Given the description of an element on the screen output the (x, y) to click on. 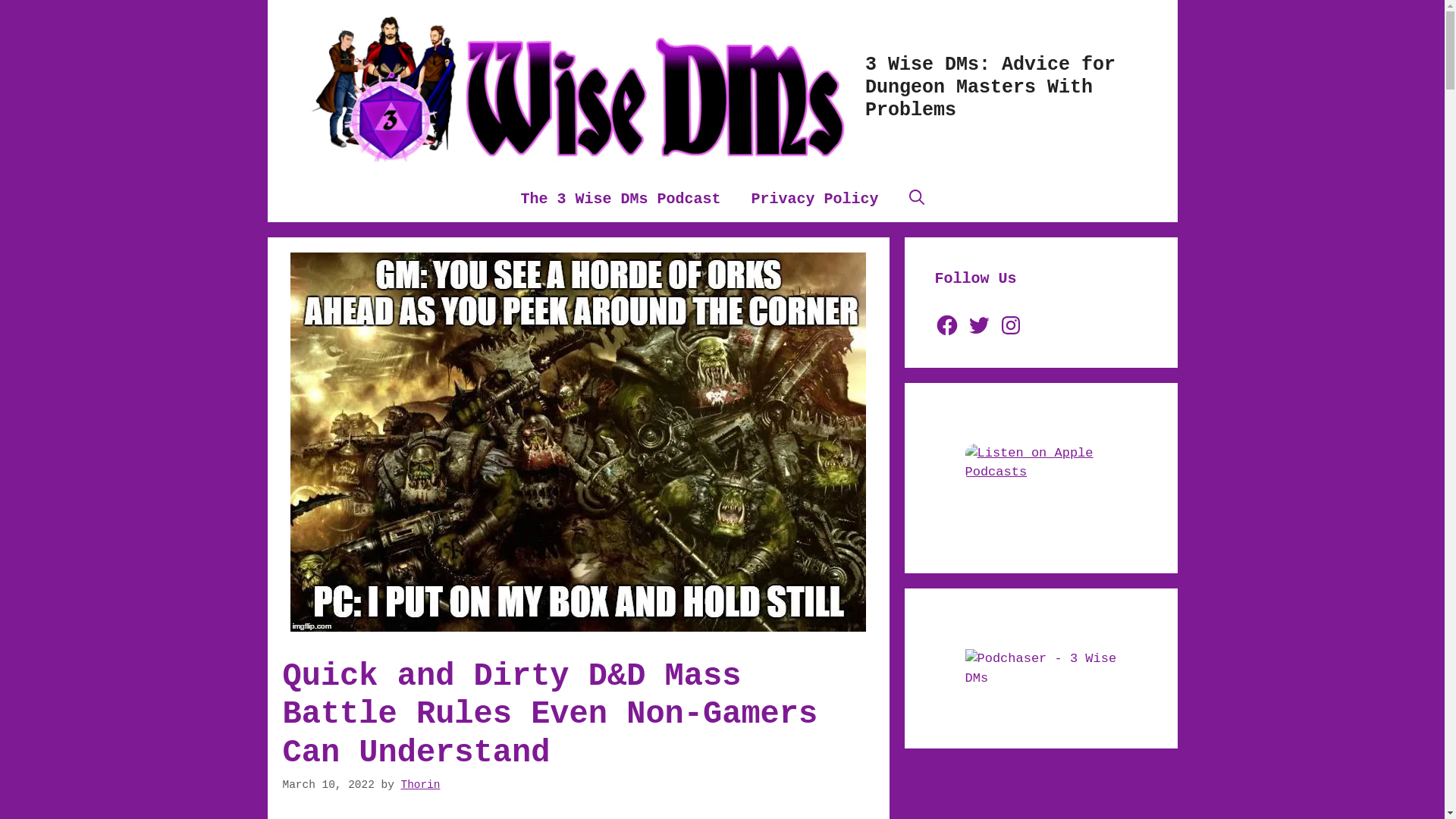
3 Wise DMs: Advice for Dungeon Masters With Problems Element type: text (990, 87)
Instagram Element type: text (1010, 325)
The 3 Wise DMs Podcast Element type: text (620, 199)
Twitter Element type: text (978, 325)
Privacy Policy Element type: text (814, 199)
Thorin Element type: text (419, 784)
Facebook Element type: text (946, 325)
